Given the description of an element on the screen output the (x, y) to click on. 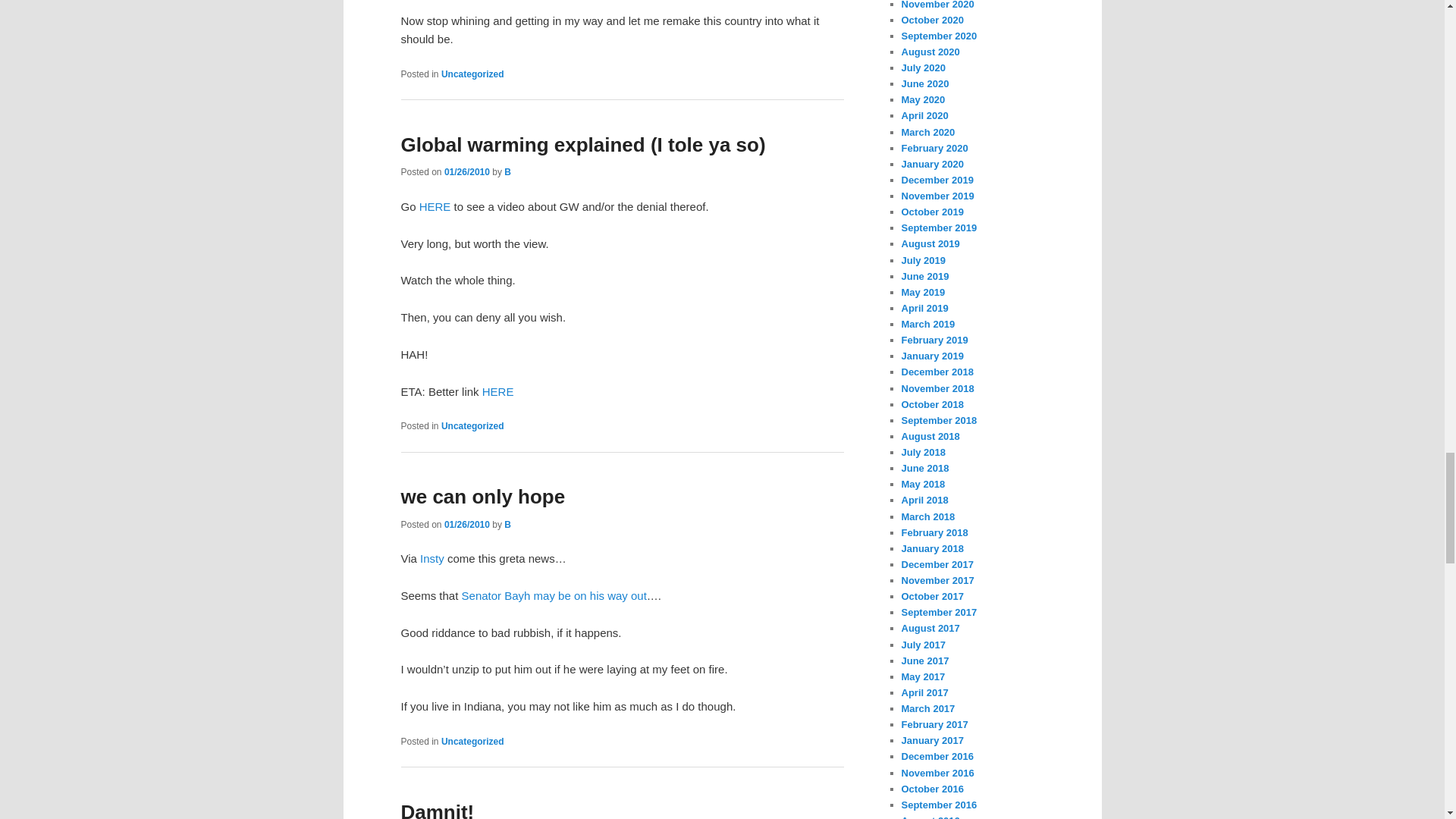
Uncategorized (472, 741)
Uncategorized (472, 425)
we can only hope (482, 496)
HERE (497, 391)
Senator Bayh may be on his way out (553, 594)
19:44 (466, 524)
Damnit! (437, 809)
Uncategorized (472, 73)
Insty (432, 558)
20:36 (466, 172)
